Given the description of an element on the screen output the (x, y) to click on. 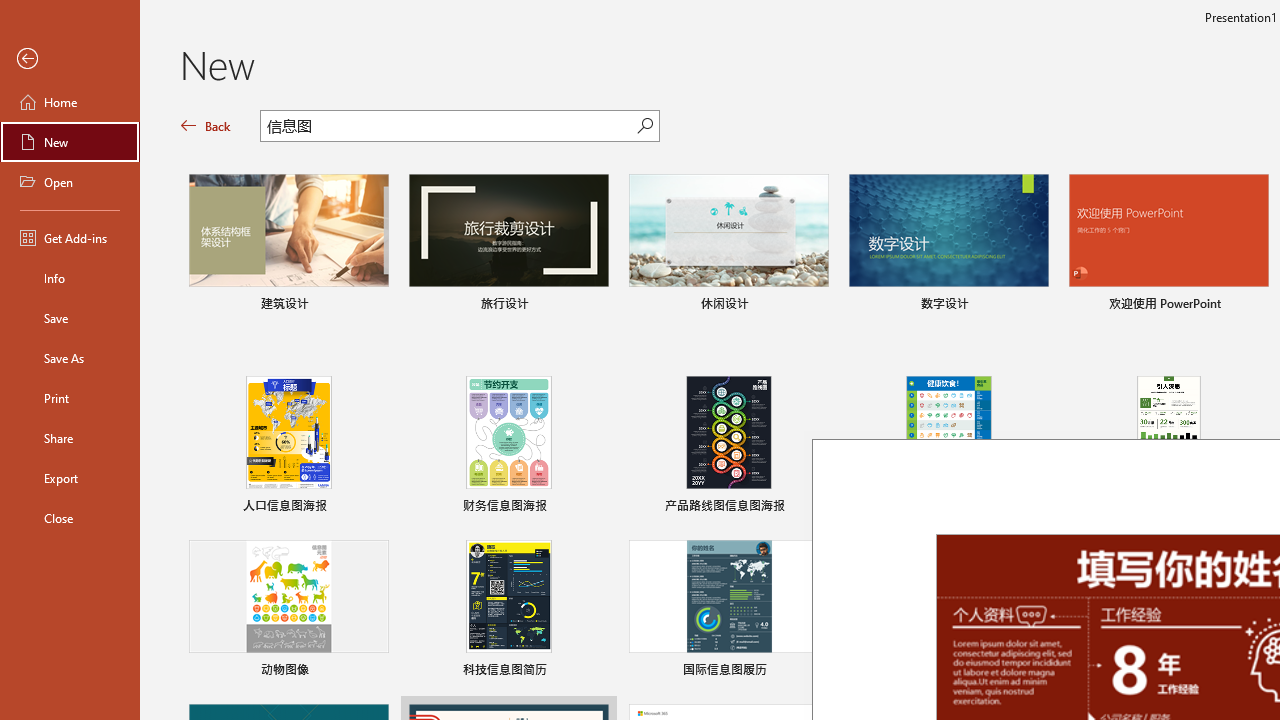
Pin to list (1255, 671)
